Given the description of an element on the screen output the (x, y) to click on. 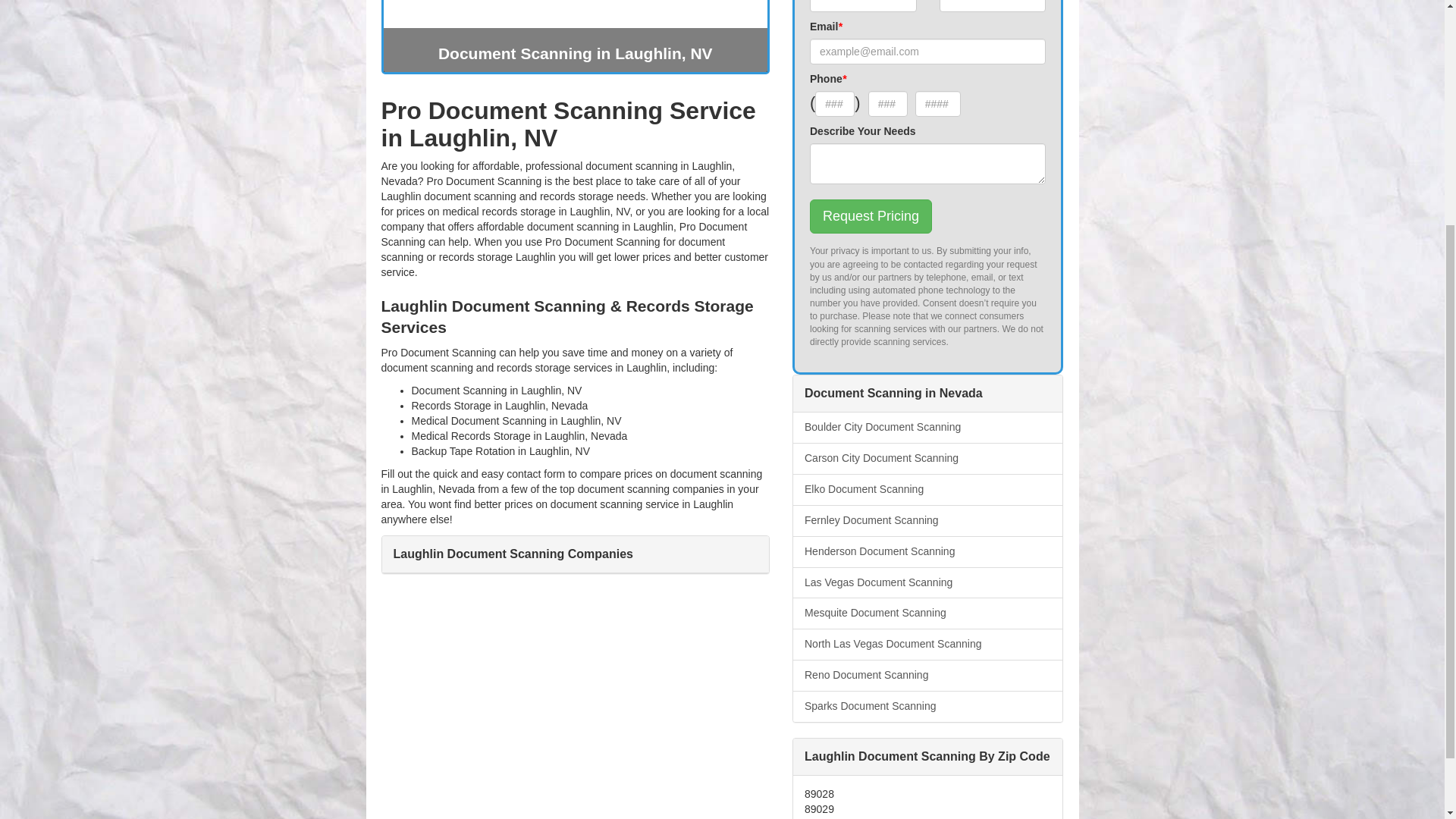
Elko Document Scanning (927, 490)
Reno Document Scanning (927, 675)
North Las Vegas Document Scanning (927, 644)
Carson City Document Scanning (927, 459)
Request Pricing (870, 216)
Henderson Document Scanning (927, 552)
Boulder City Document Scanning (927, 427)
Las Vegas Document Scanning (927, 582)
Mesquite Document Scanning (927, 613)
Sparks Document Scanning (927, 706)
Fernley Document Scanning (927, 521)
